Given the description of an element on the screen output the (x, y) to click on. 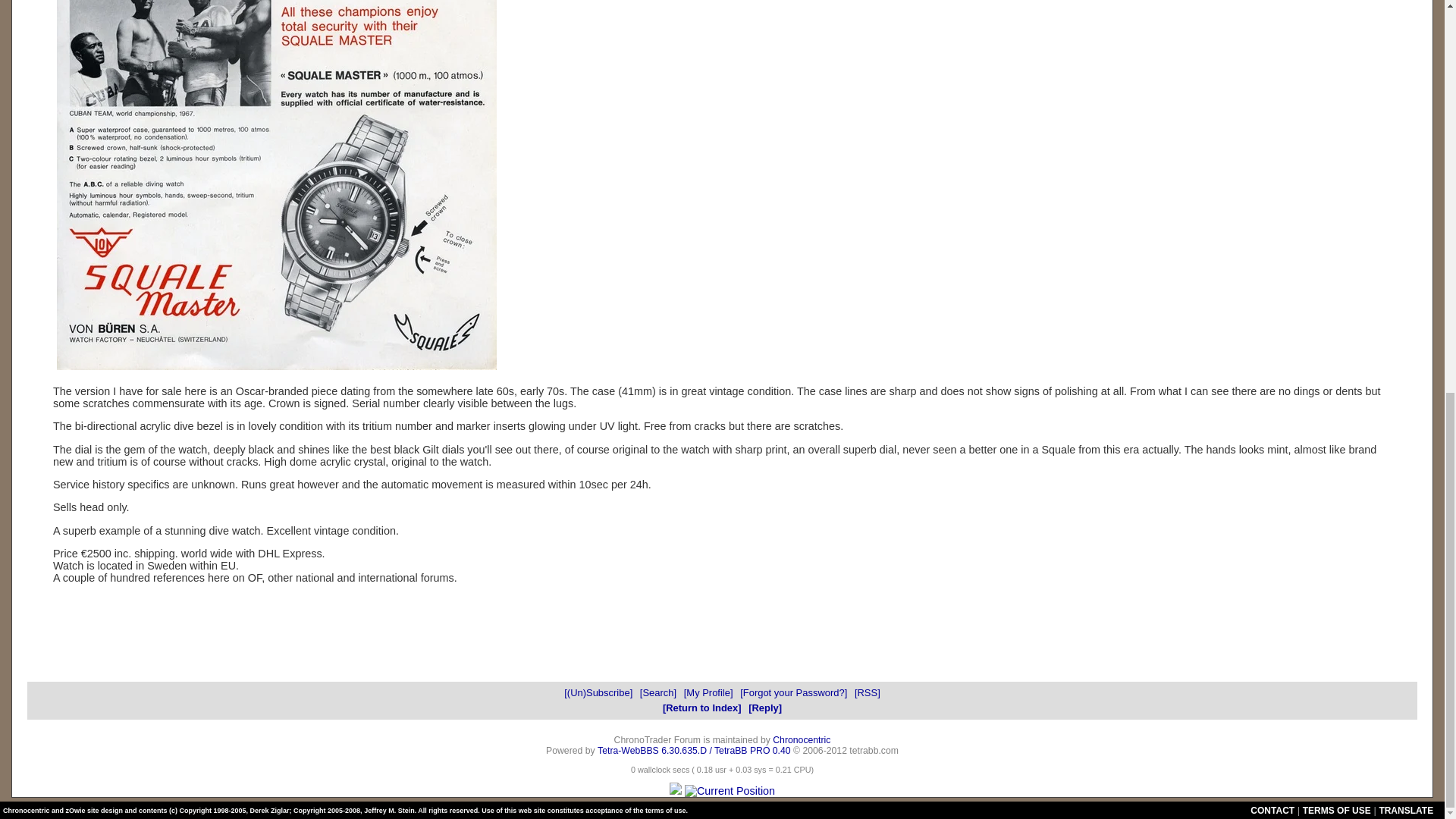
Chronocentric (801, 739)
Reply (764, 707)
Search (658, 692)
Return to Index (701, 707)
RSS (867, 692)
My Profile (708, 692)
TRANSLATE (1405, 810)
Forgot your Password? (793, 692)
CONTACT (1272, 810)
TERMS OF USE (1337, 810)
